Given the description of an element on the screen output the (x, y) to click on. 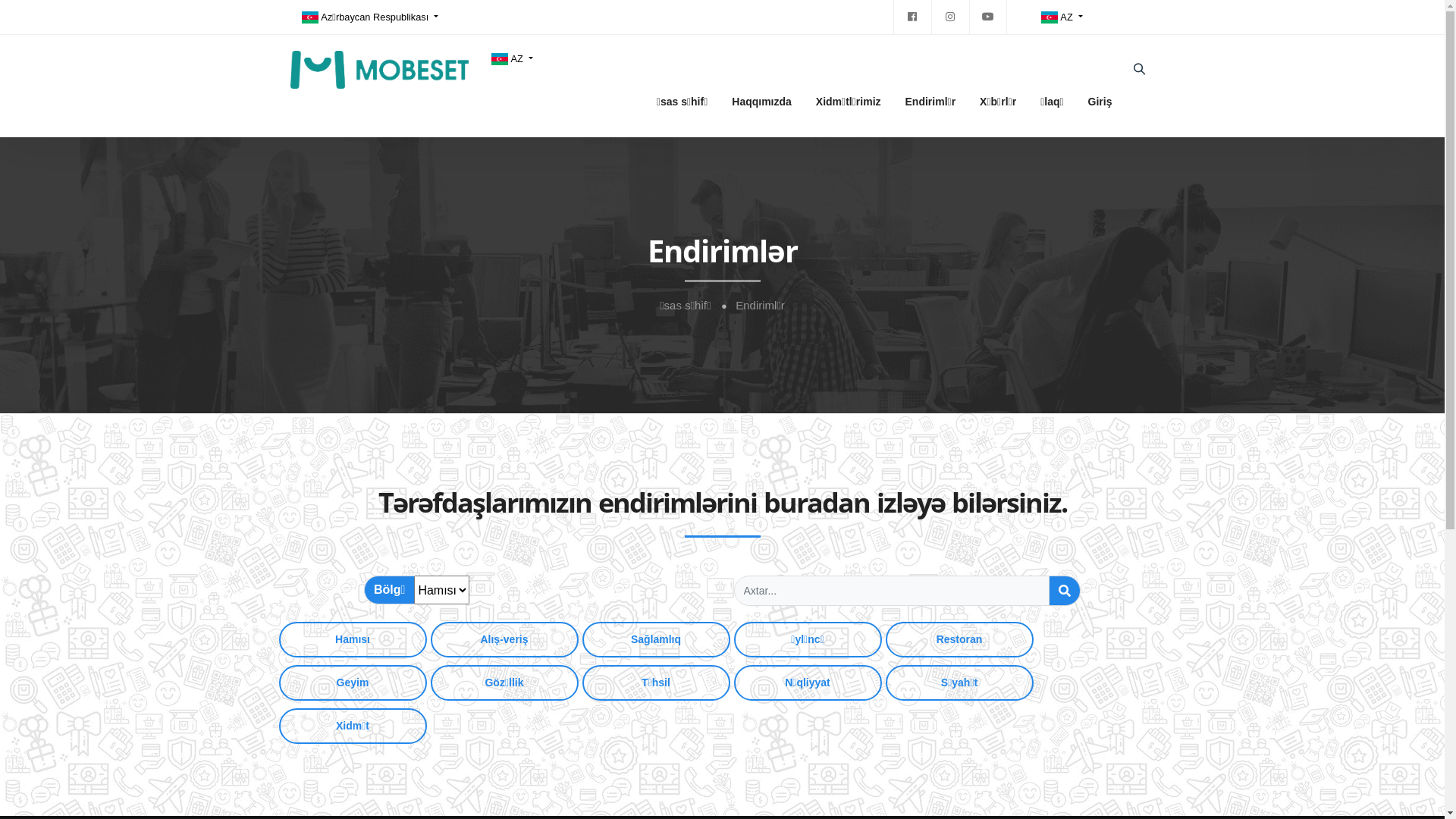
Restoran Element type: text (959, 639)
Geyim Element type: text (352, 682)
AZ Element type: text (1060, 16)
AZ Element type: text (511, 58)
